Given the description of an element on the screen output the (x, y) to click on. 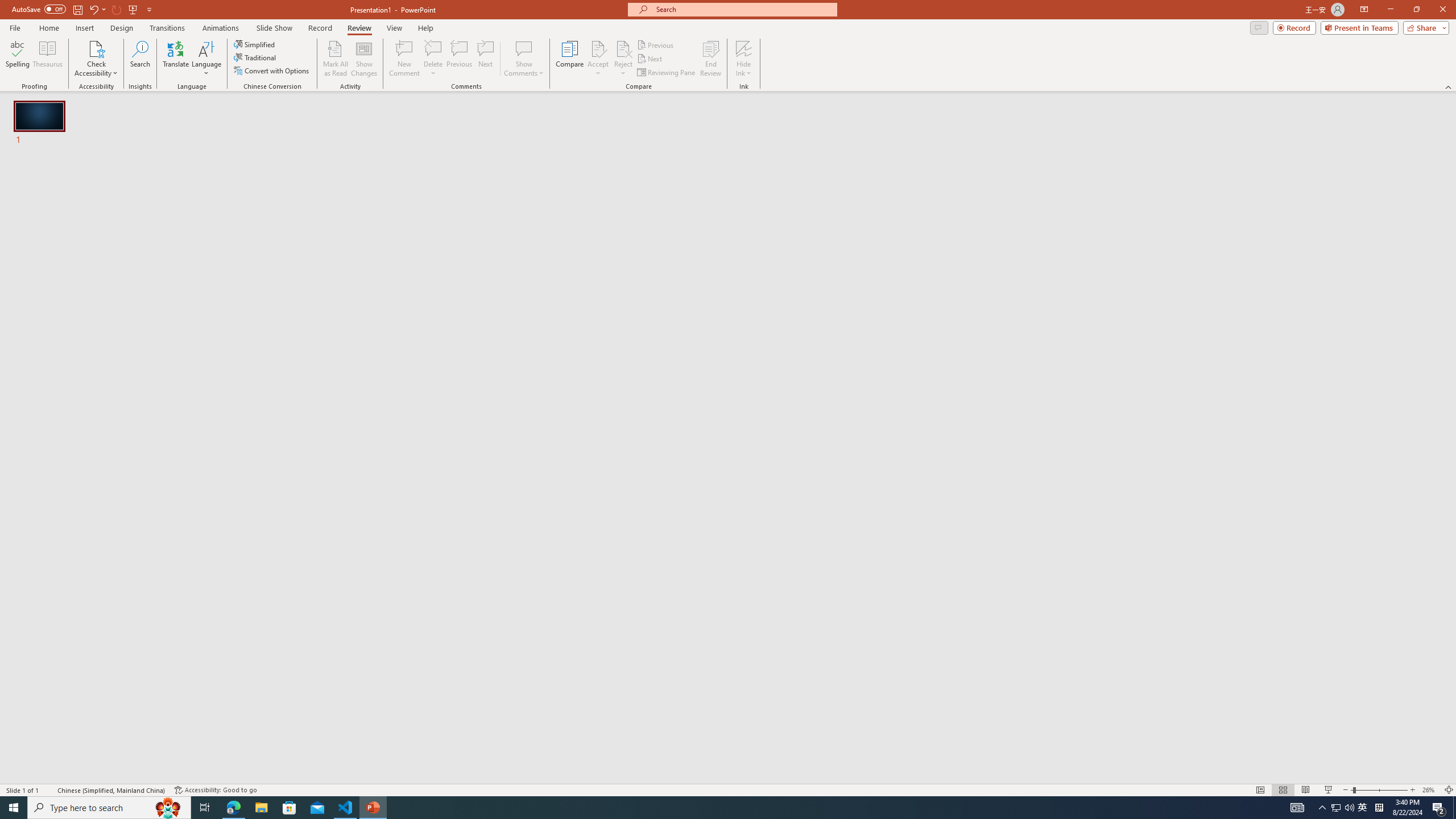
Spelling... (17, 58)
Next (649, 58)
Accept Change (598, 48)
Zoom 26% (1430, 790)
Previous (655, 44)
